Given the description of an element on the screen output the (x, y) to click on. 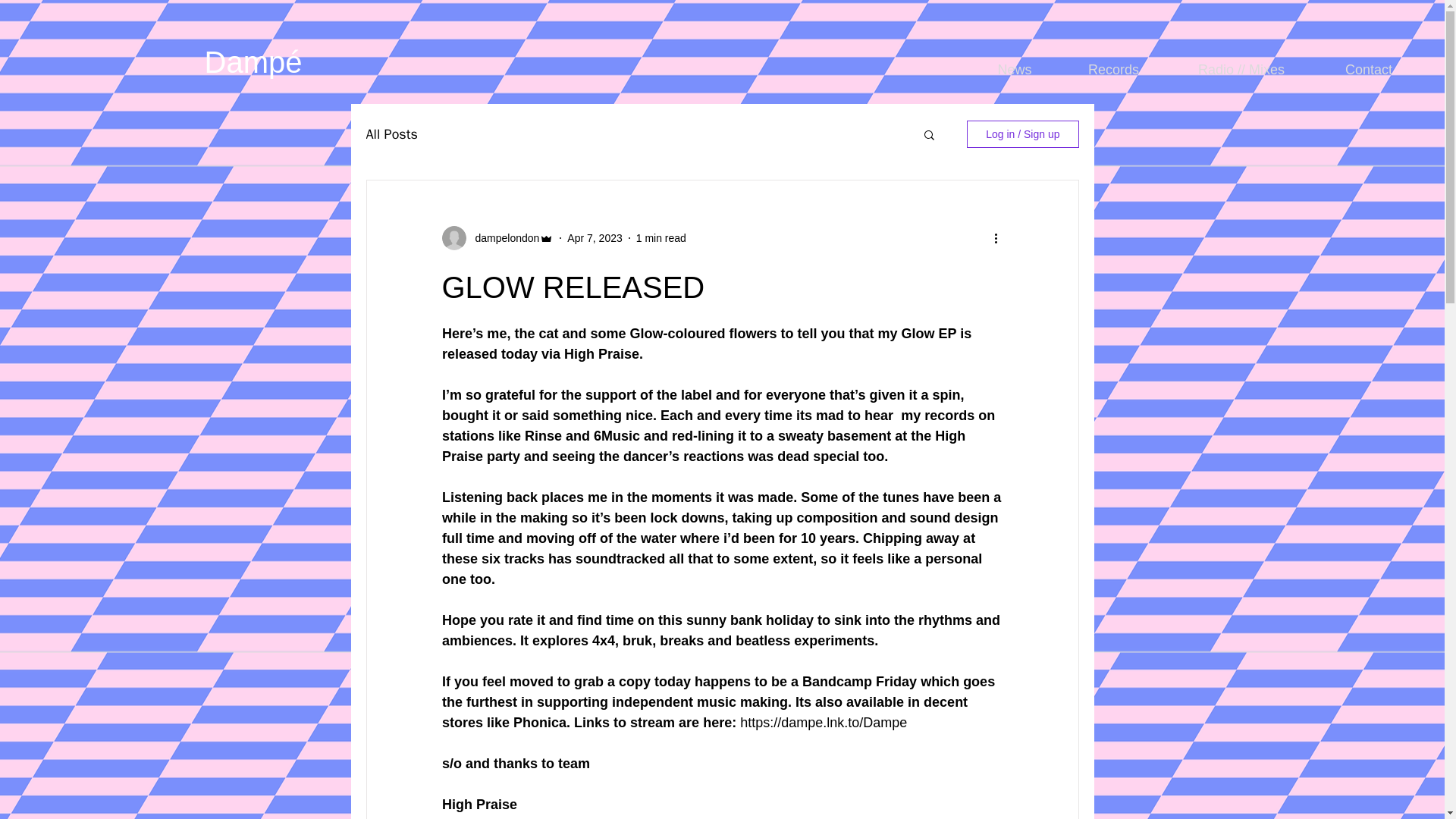
1 min read (660, 237)
Apr 7, 2023 (594, 237)
Records (1113, 69)
dampelondon (501, 238)
All Posts (390, 134)
Contact (1369, 69)
News (1014, 69)
